Given the description of an element on the screen output the (x, y) to click on. 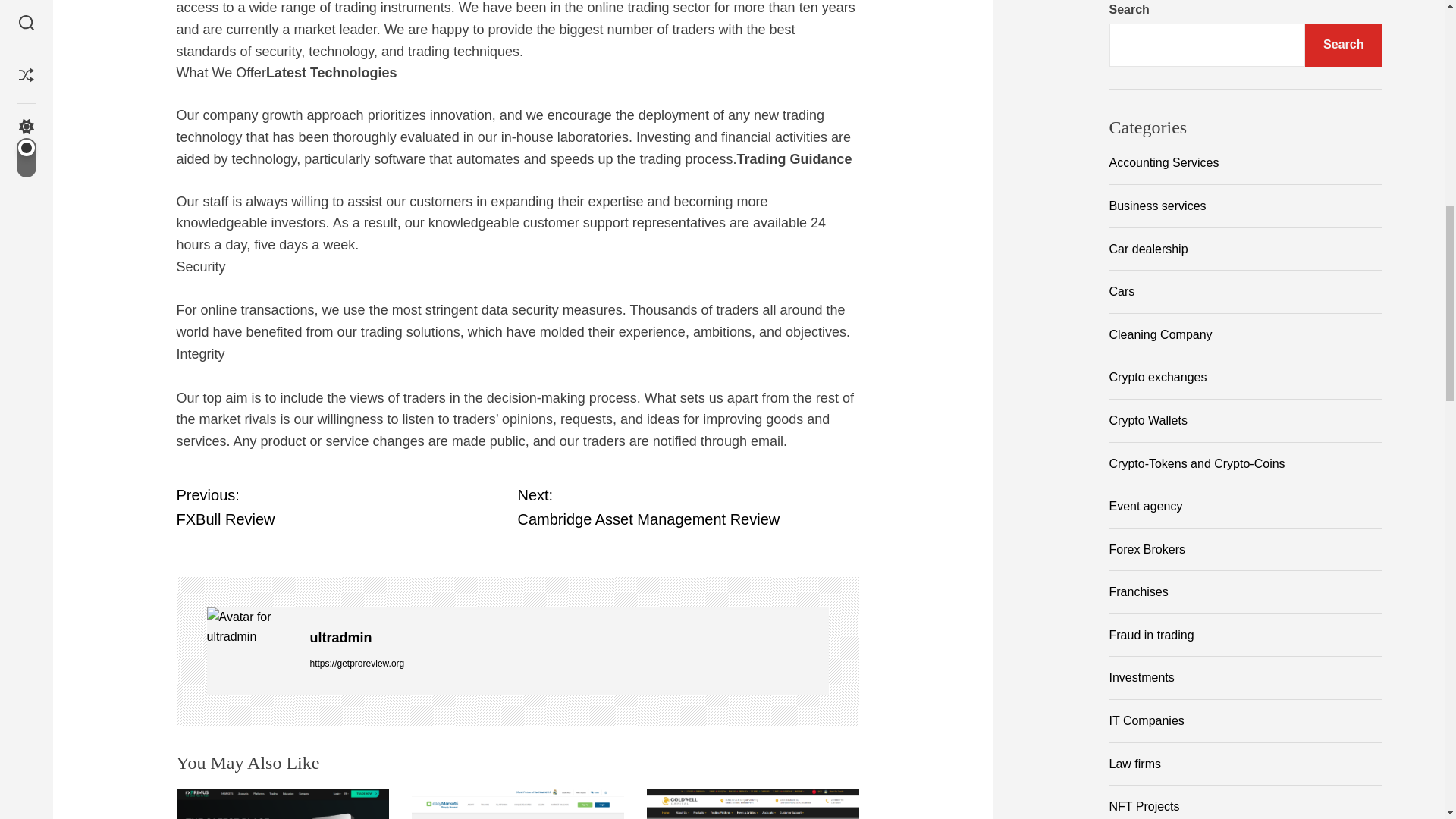
ultradmin (687, 507)
ultradmin (568, 638)
ultradmin (250, 626)
